Given the description of an element on the screen output the (x, y) to click on. 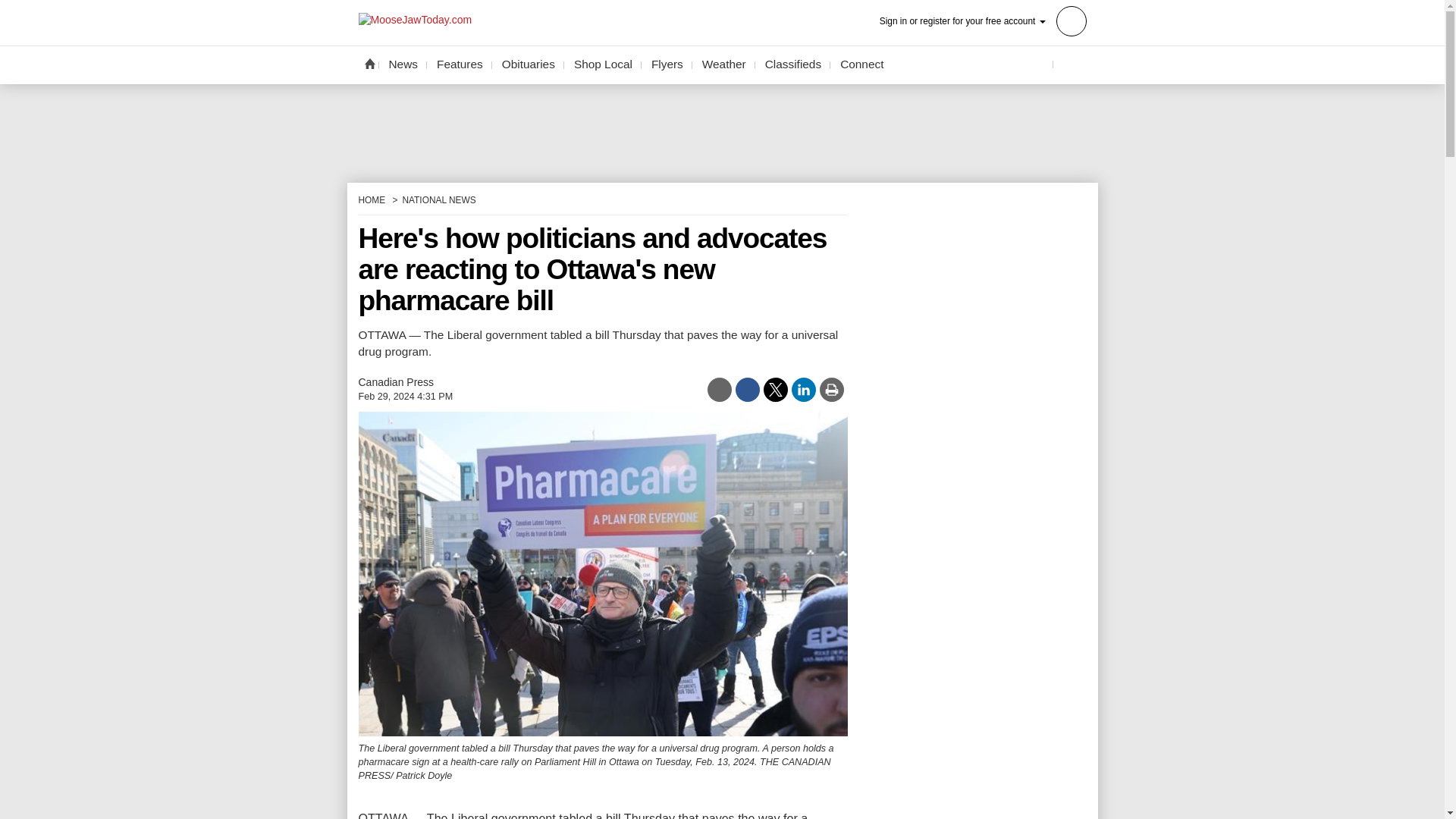
Home (368, 63)
Shop Local (603, 64)
Flyers (667, 64)
Sign in or register for your free account (982, 20)
Obituaries (528, 64)
News (403, 64)
